Given the description of an element on the screen output the (x, y) to click on. 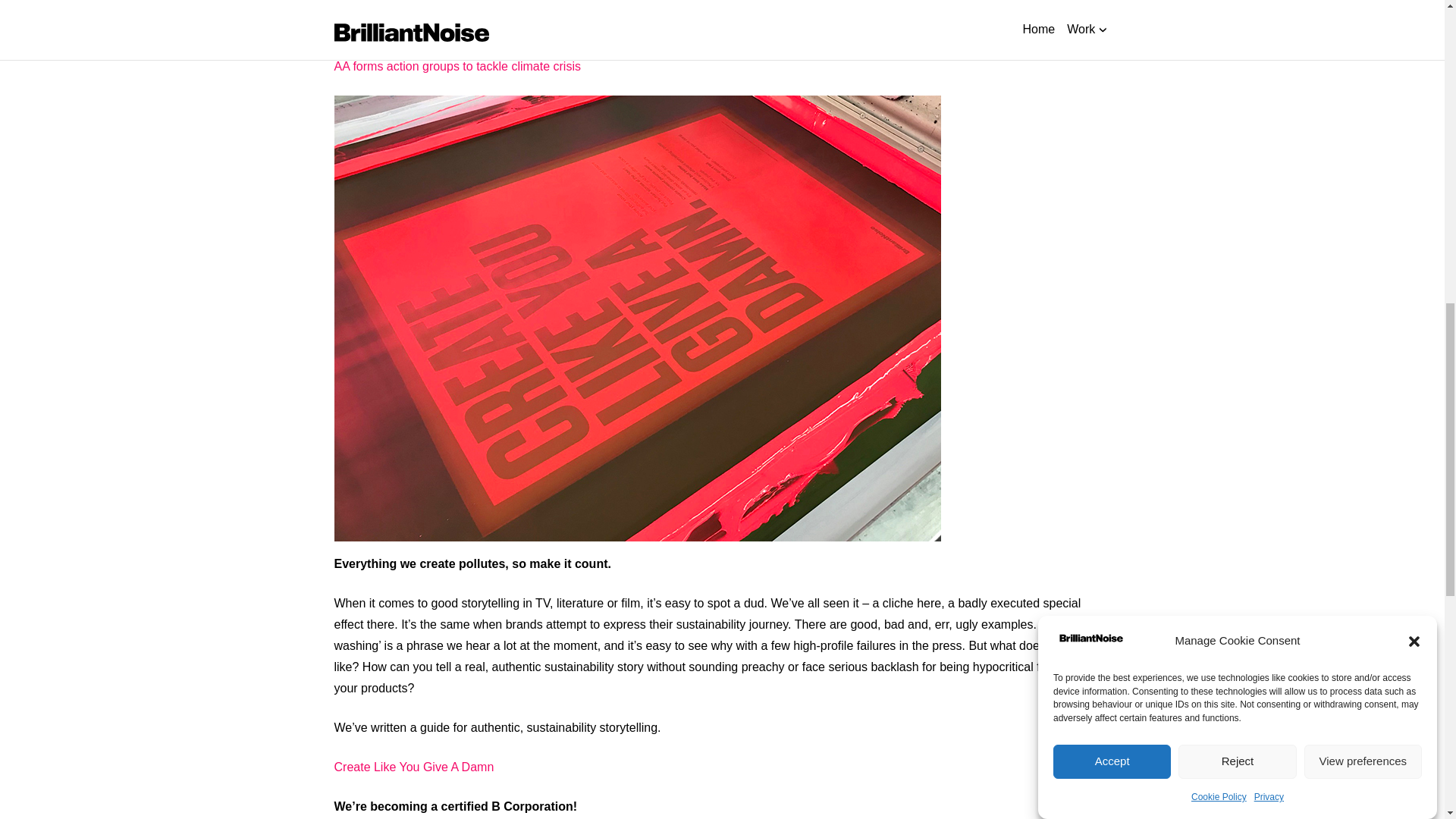
Reject (1236, 215)
Cookie Policy (1218, 151)
Privacy (1268, 128)
Accept (1111, 246)
Create Like You Give A Damn (413, 766)
View preferences (1363, 184)
AA forms action groups to tackle climate crisis (456, 65)
